Given the description of an element on the screen output the (x, y) to click on. 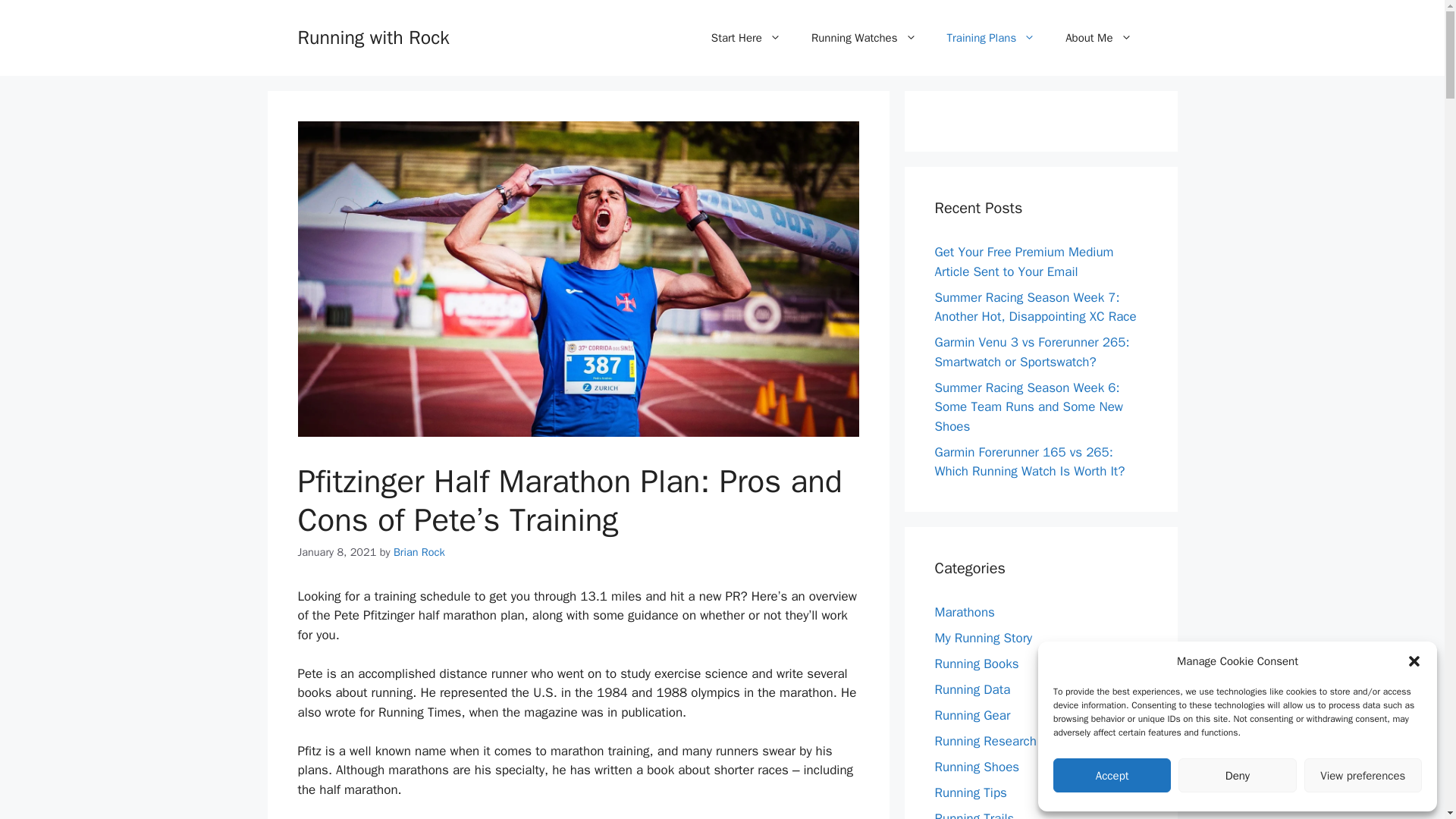
Training Plans (990, 37)
About Me (1098, 37)
Accept (1111, 775)
Deny (1236, 775)
Brian Rock (419, 551)
Running with Rock (372, 37)
Start Here (745, 37)
View all posts by Brian Rock (419, 551)
Running Watches (863, 37)
View preferences (1363, 775)
